Given the description of an element on the screen output the (x, y) to click on. 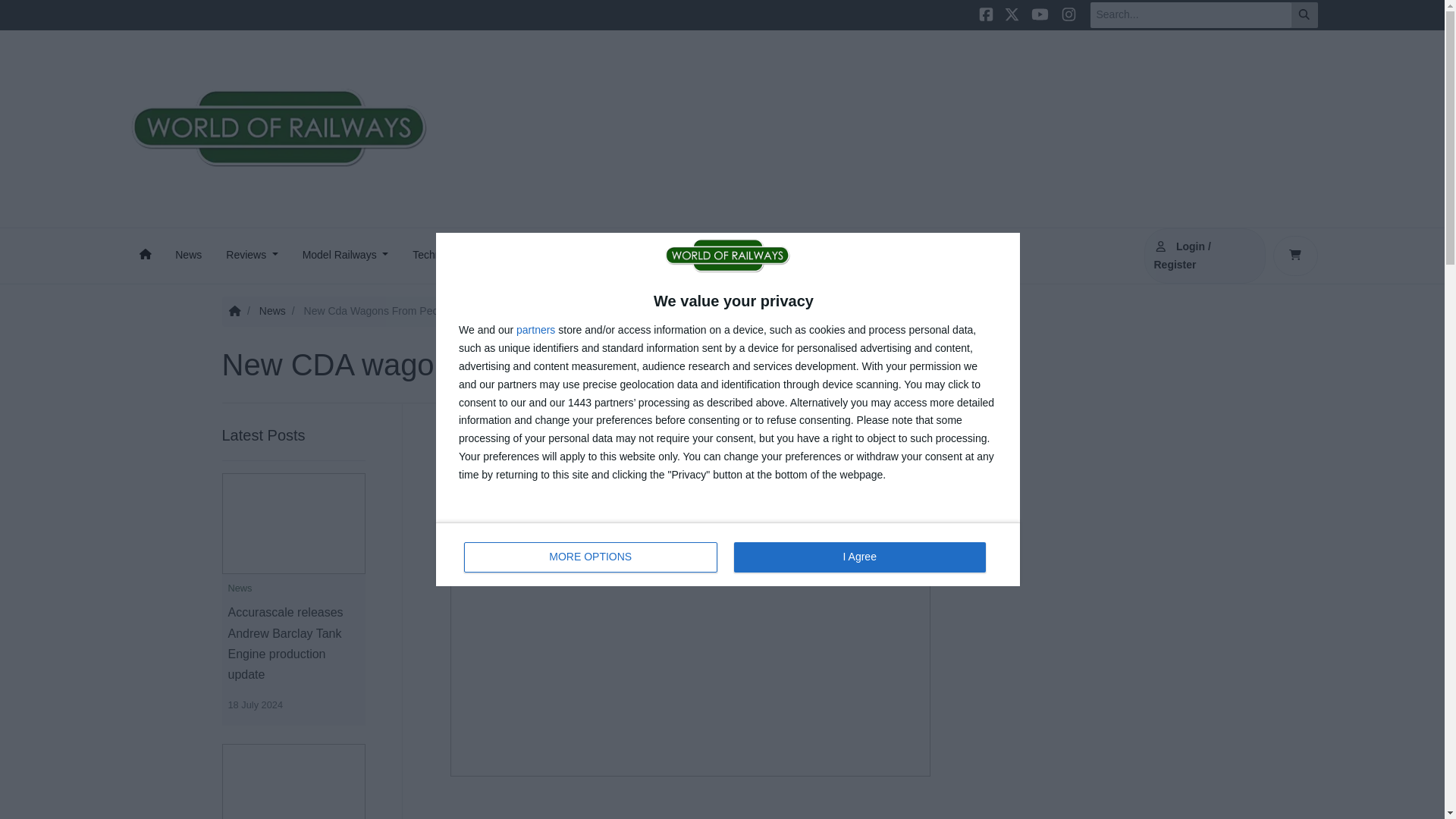
partners (535, 330)
News (188, 256)
Reviews (251, 256)
MORE OPTIONS (590, 557)
I Agree (859, 557)
